Given the description of an element on the screen output the (x, y) to click on. 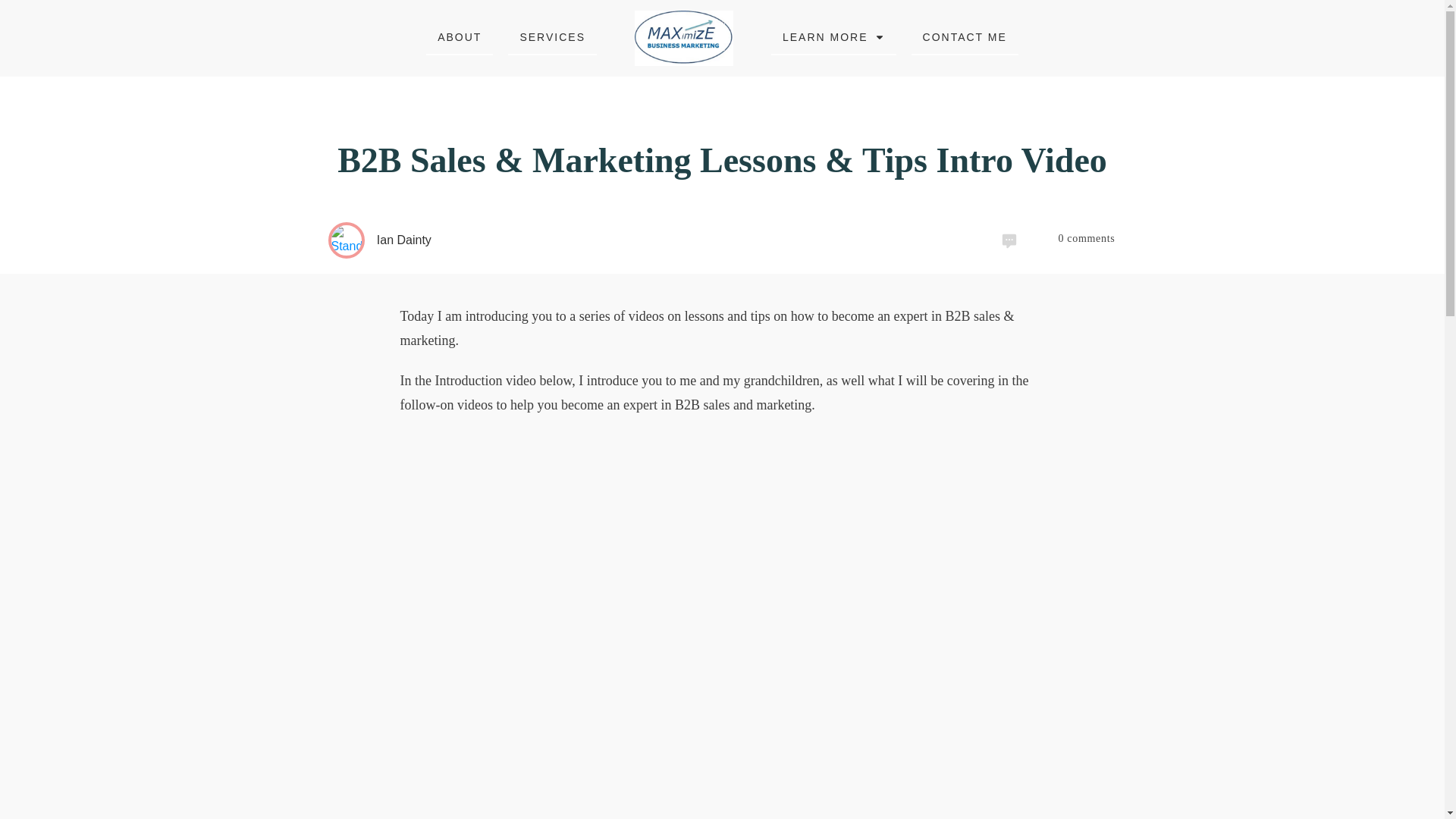
SERVICES (552, 36)
CONTACT ME (965, 36)
Standard Post (345, 240)
ABOUT (459, 36)
LEARN MORE (834, 36)
